Given the description of an element on the screen output the (x, y) to click on. 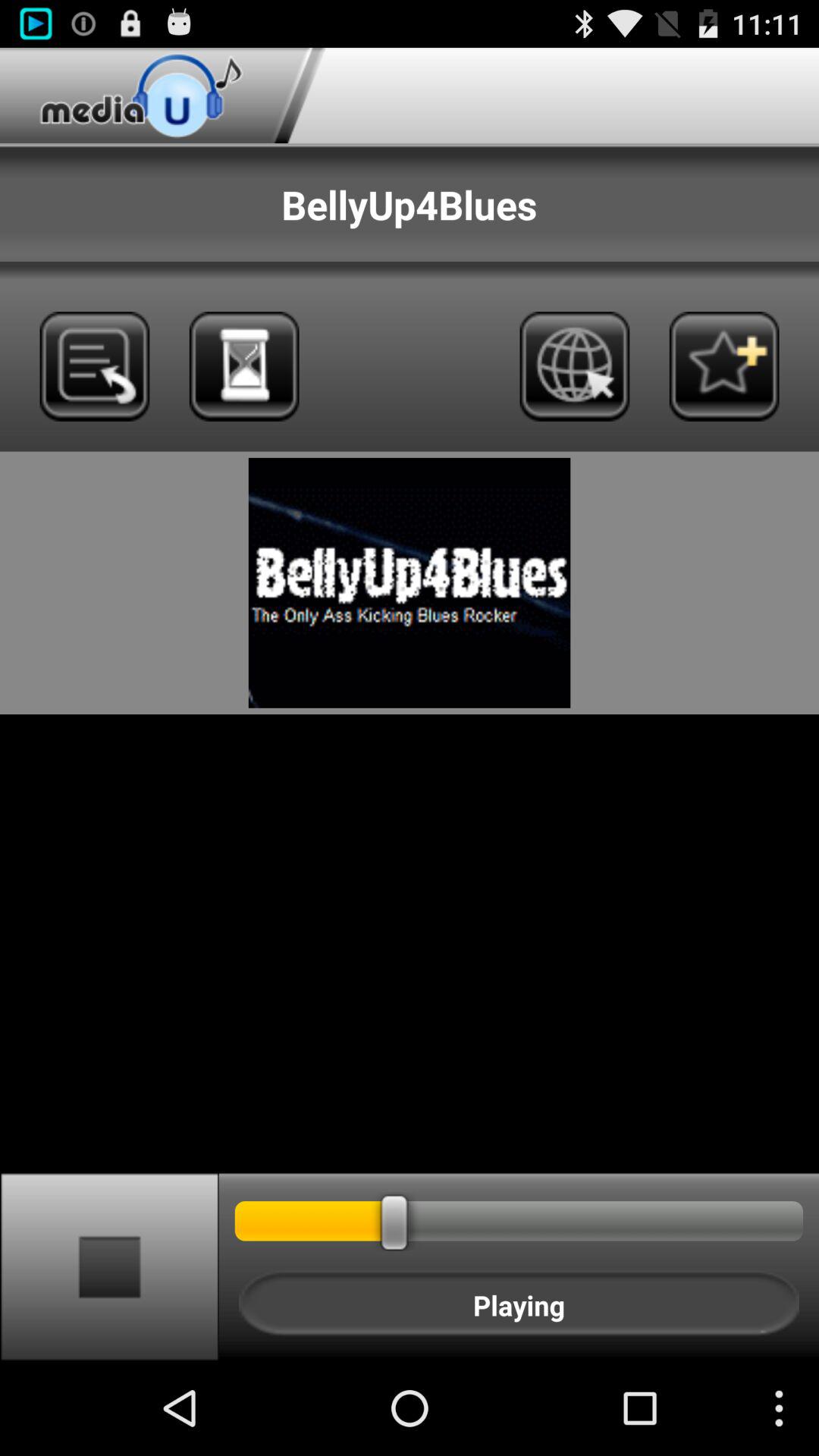
go back to menu (94, 366)
